Given the description of an element on the screen output the (x, y) to click on. 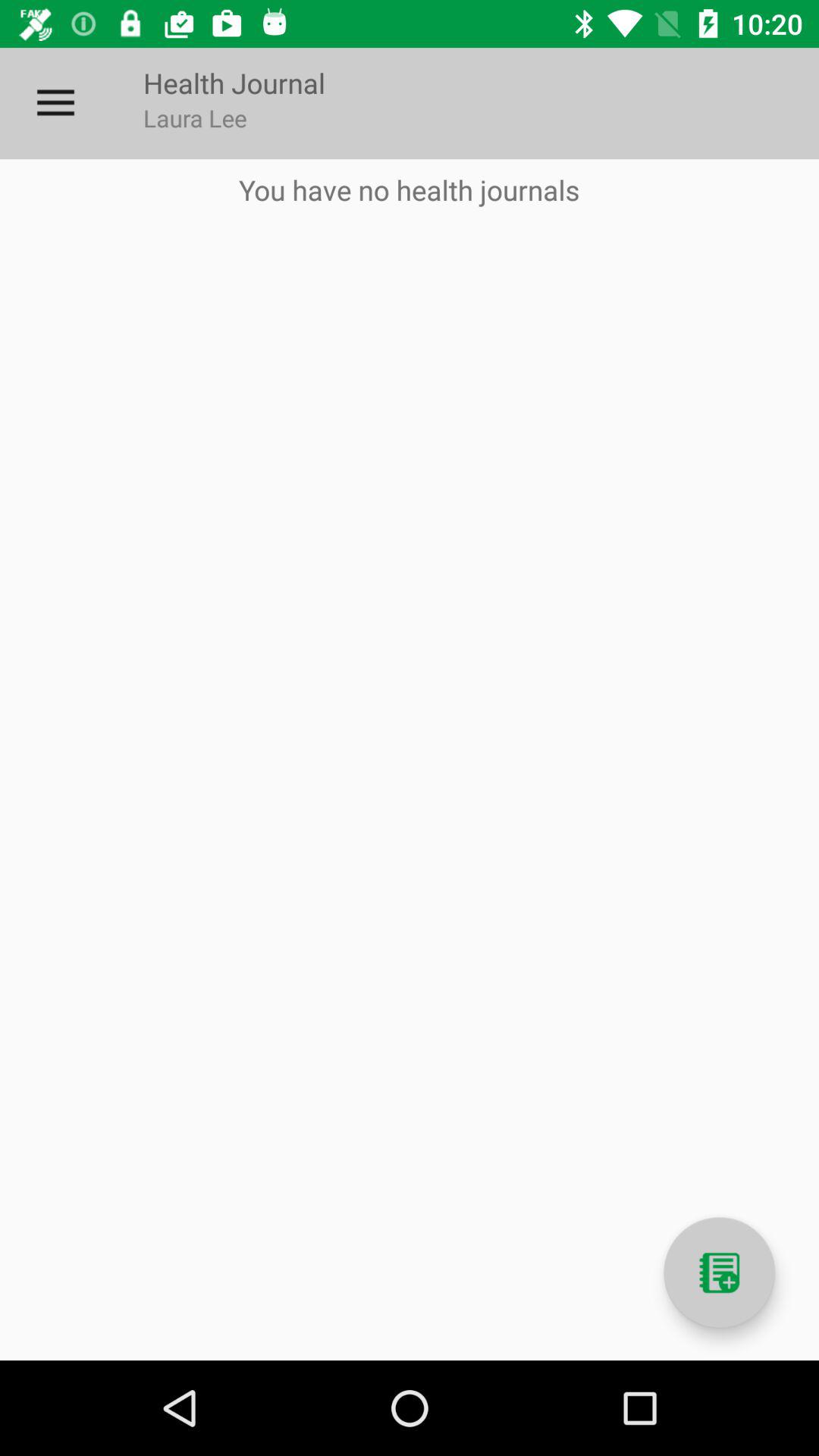
turn on the item at the bottom right corner (719, 1272)
